Given the description of an element on the screen output the (x, y) to click on. 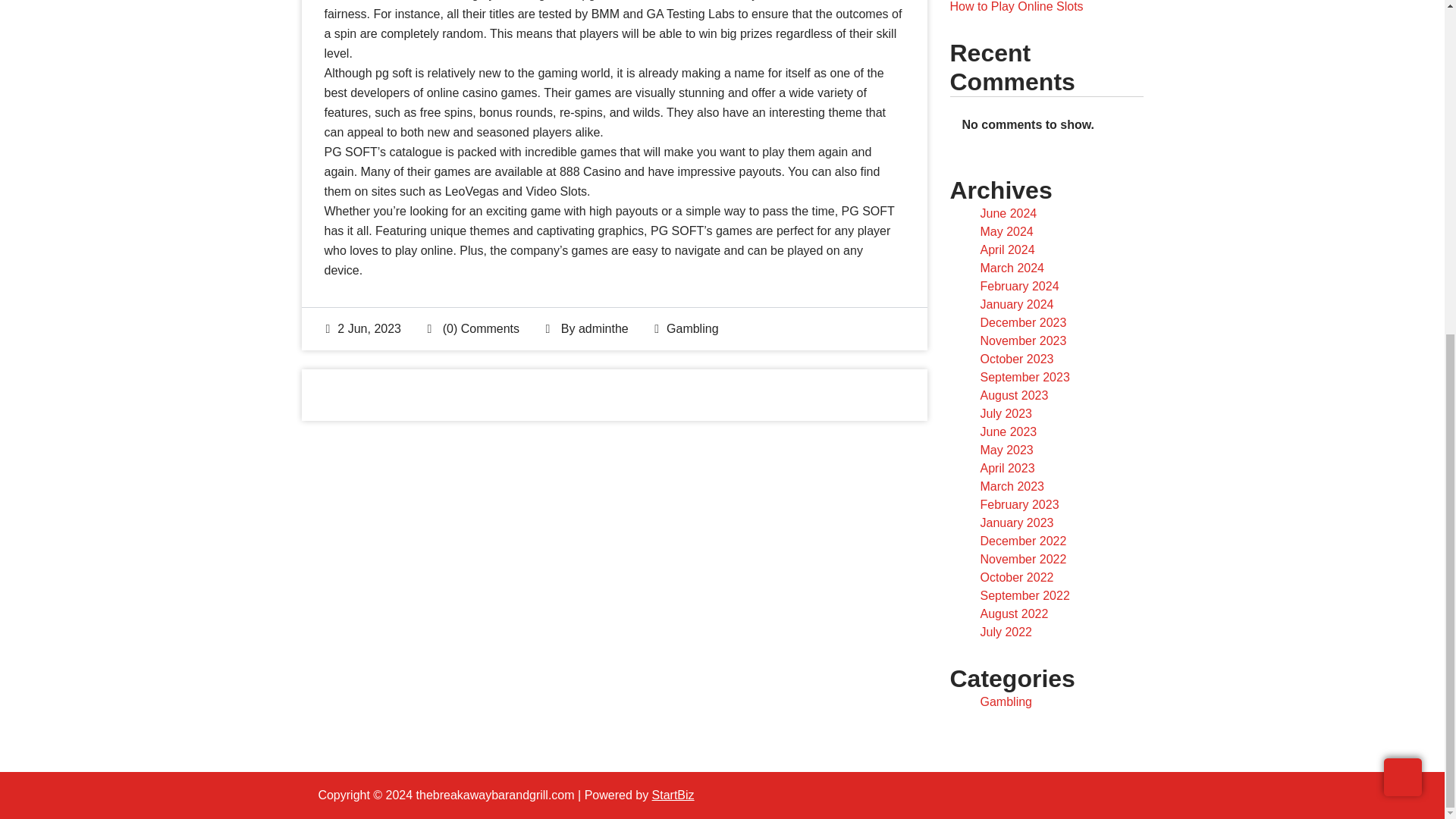
September 2023 (1023, 377)
Gambling (691, 328)
May 2023 (1005, 449)
How to Play Online Slots (1016, 6)
August 2023 (1013, 395)
April 2023 (1006, 468)
May 2024 (1005, 231)
December 2023 (1022, 322)
adminthe (603, 328)
November 2023 (1022, 340)
2 Jun, 2023 (363, 328)
March 2023 (1011, 486)
July 2023 (1005, 413)
October 2023 (1015, 358)
April 2024 (1006, 249)
